Given the description of an element on the screen output the (x, y) to click on. 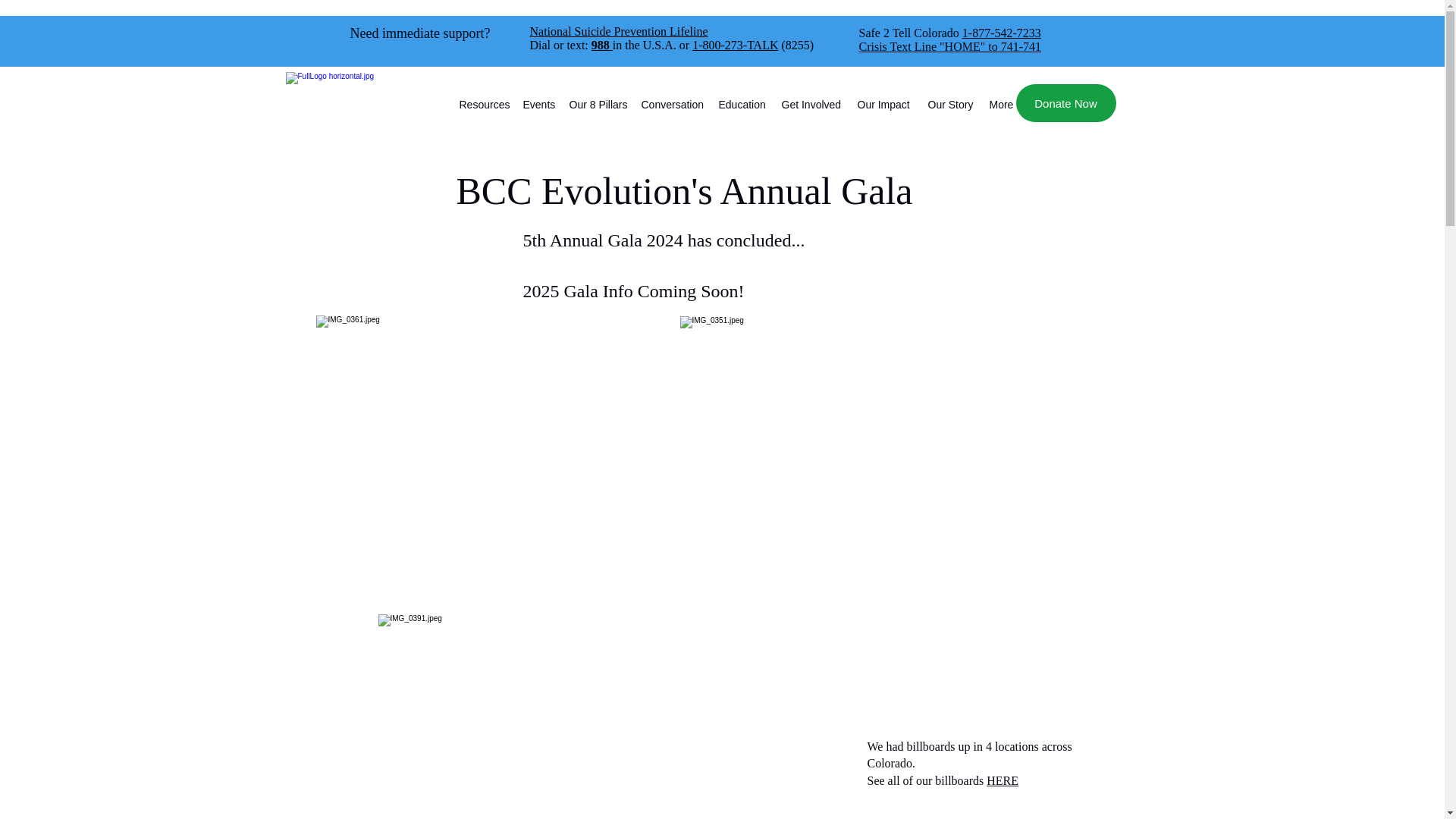
Crisis Text Line "HOME" to 741-741 (950, 46)
1-877-542-7233 (1001, 32)
National Suicide Prevention Lifeline (618, 31)
1-800-273-TALK (735, 44)
988 (601, 44)
